Given the description of an element on the screen output the (x, y) to click on. 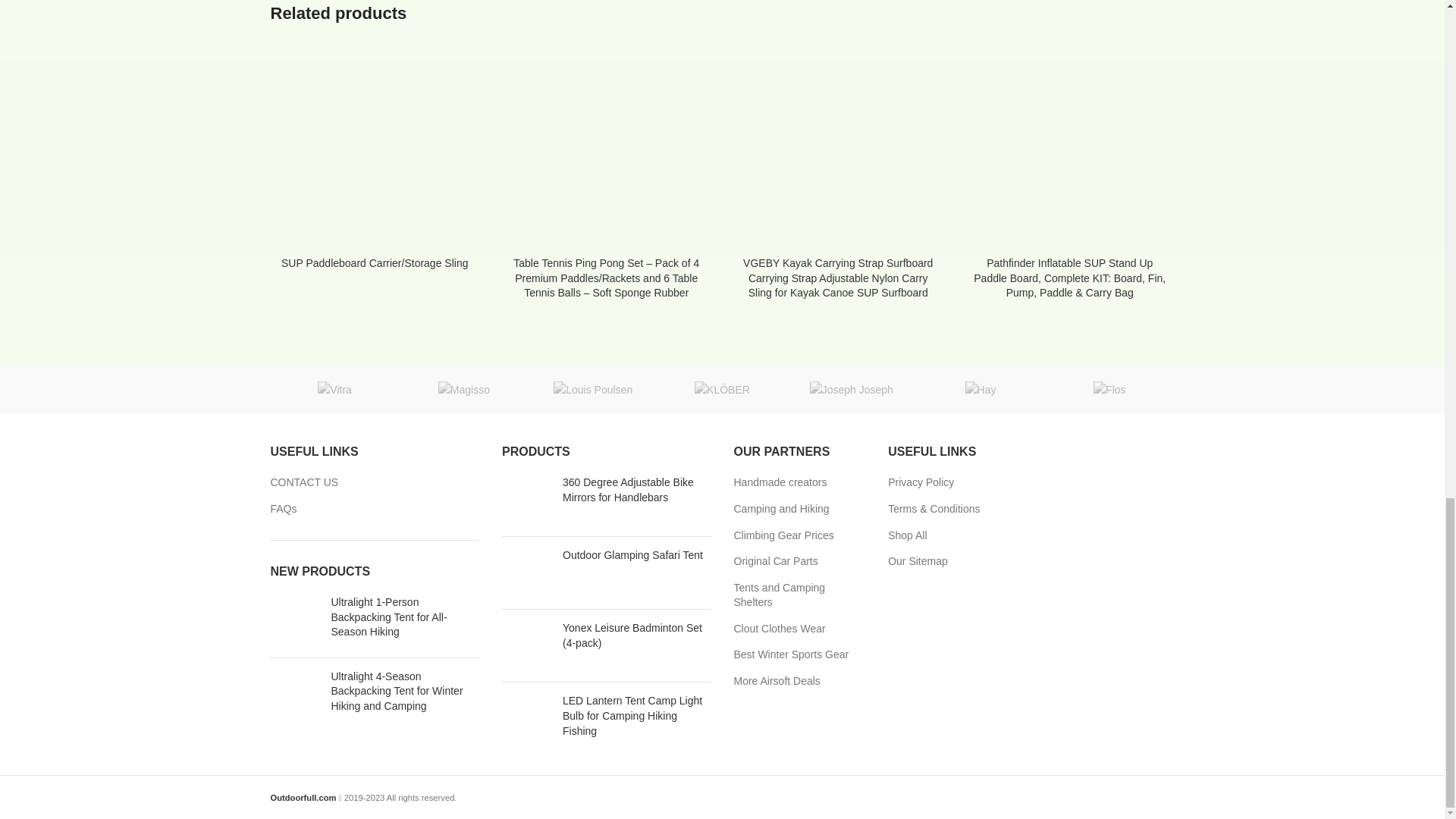
Vitra (333, 389)
Magisso (463, 389)
Magisso (463, 389)
Vitra (334, 389)
Louis Poulsen (593, 389)
